Given the description of an element on the screen output the (x, y) to click on. 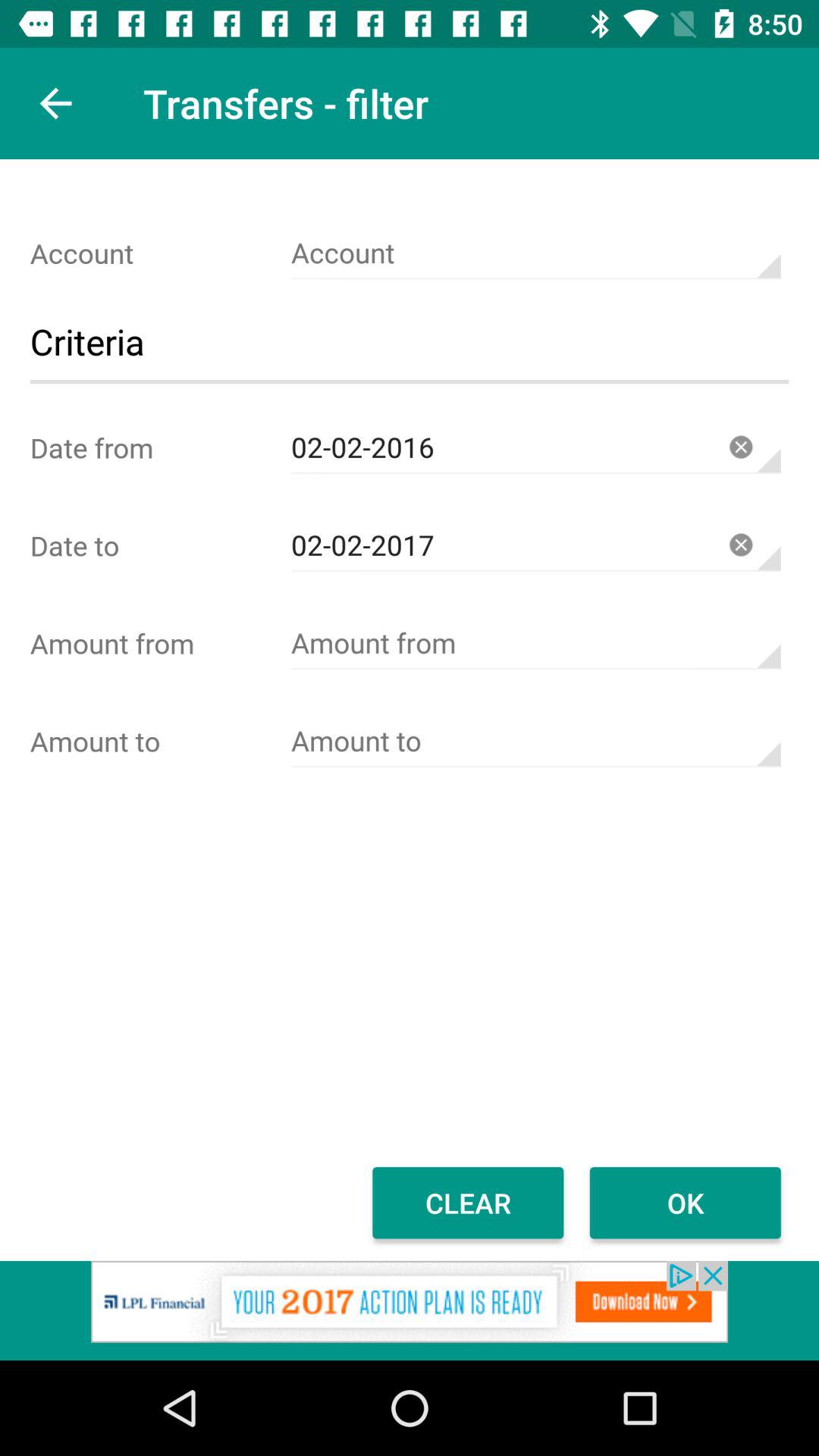
form field from (535, 643)
